Given the description of an element on the screen output the (x, y) to click on. 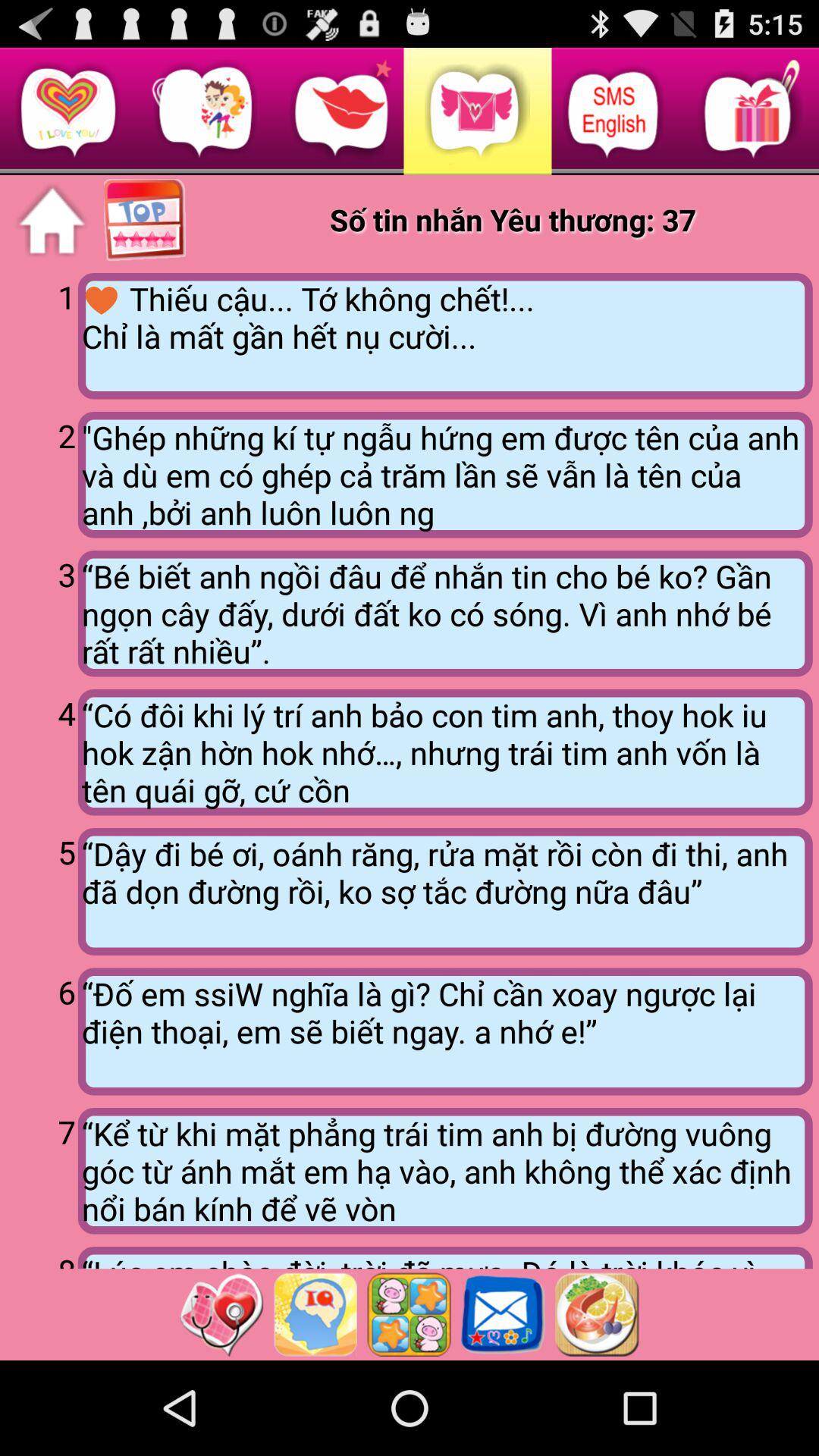
choose the app next to the 8 app (444, 1257)
